Given the description of an element on the screen output the (x, y) to click on. 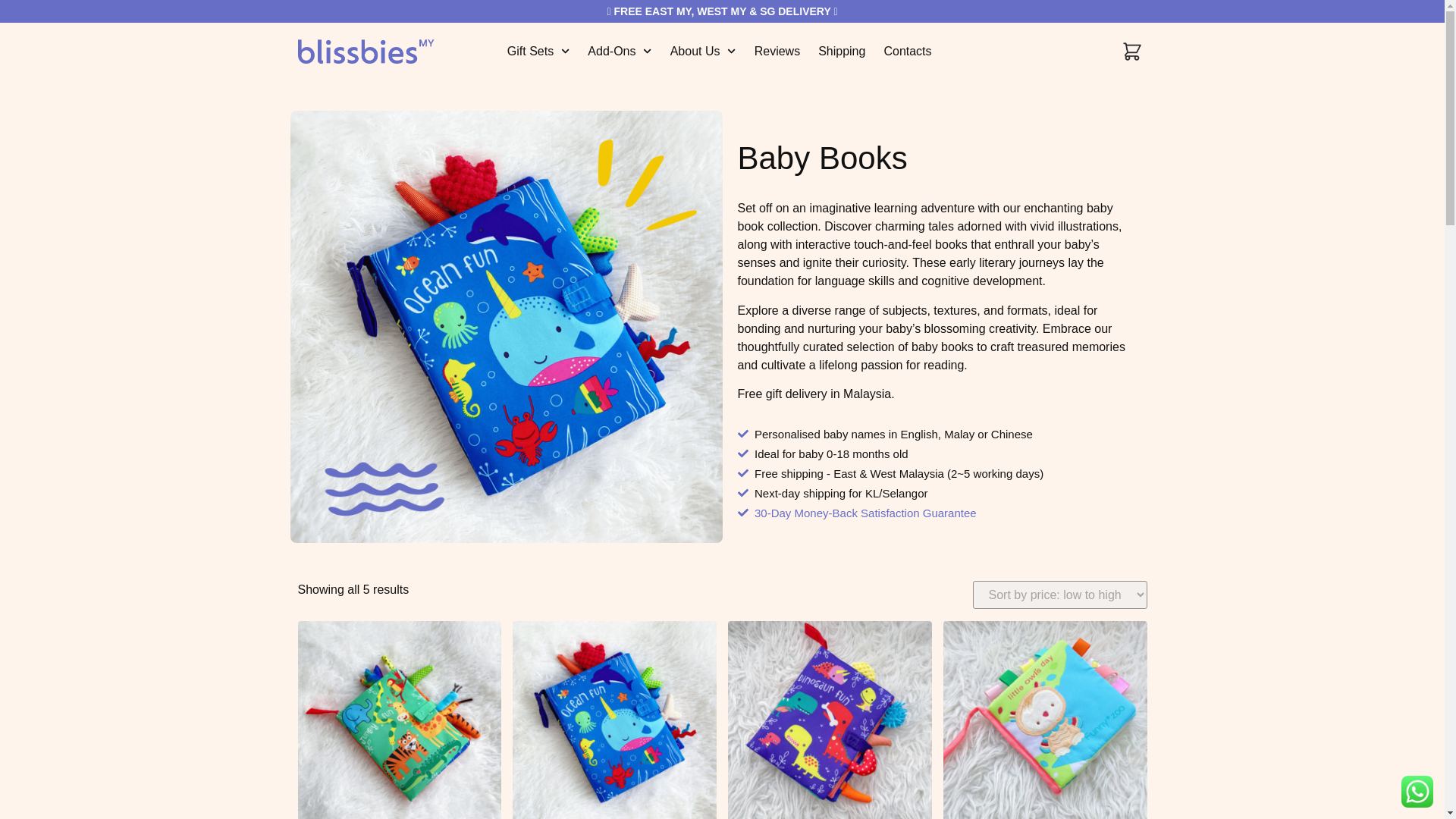
Contacts (907, 51)
Add-Ons (619, 51)
Shipping (842, 51)
Gift Sets (538, 51)
Reviews (777, 51)
About Us (703, 51)
